Given the description of an element on the screen output the (x, y) to click on. 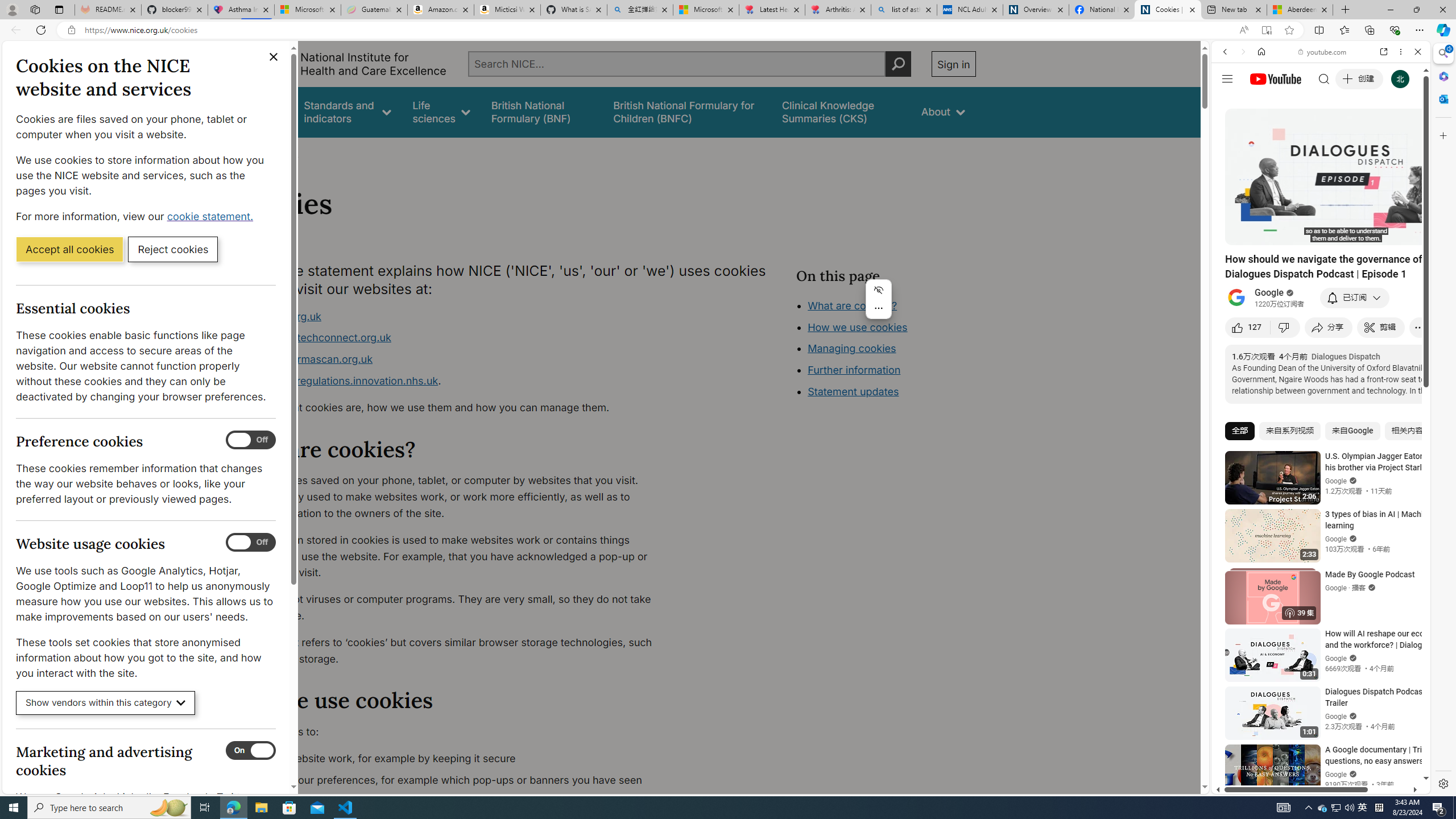
How we use cookies (896, 389)
US[ju] (1249, 785)
Managing cookies (852, 348)
Class: ytp-subtitles-button-icon (1368, 234)
make our website work, for example by keeping it secure (452, 759)
Class: dict_pnIcon rms_img (1312, 784)
